Given the description of an element on the screen output the (x, y) to click on. 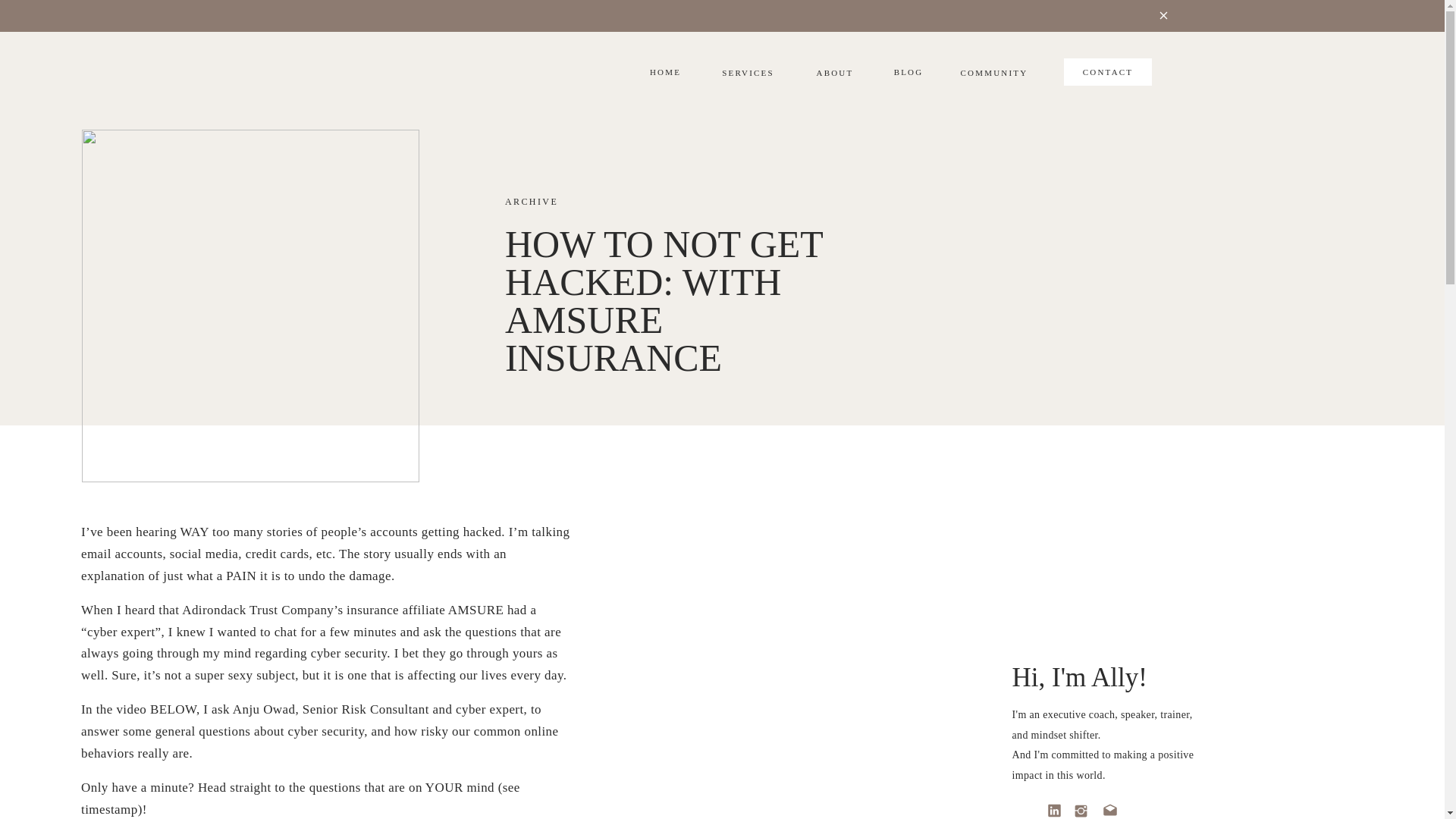
ABOUT (834, 72)
ARCHIVE (531, 201)
COMMUNITY (987, 72)
BLOG (908, 71)
HOME (664, 73)
CONTACT (1108, 74)
SERVICES (748, 73)
